Given the description of an element on the screen output the (x, y) to click on. 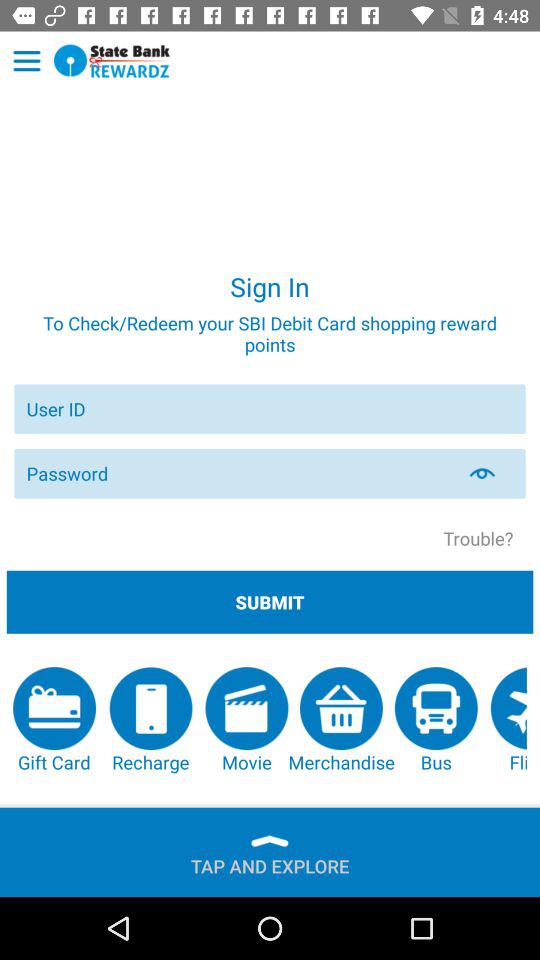
enter use id (269, 408)
